Given the description of an element on the screen output the (x, y) to click on. 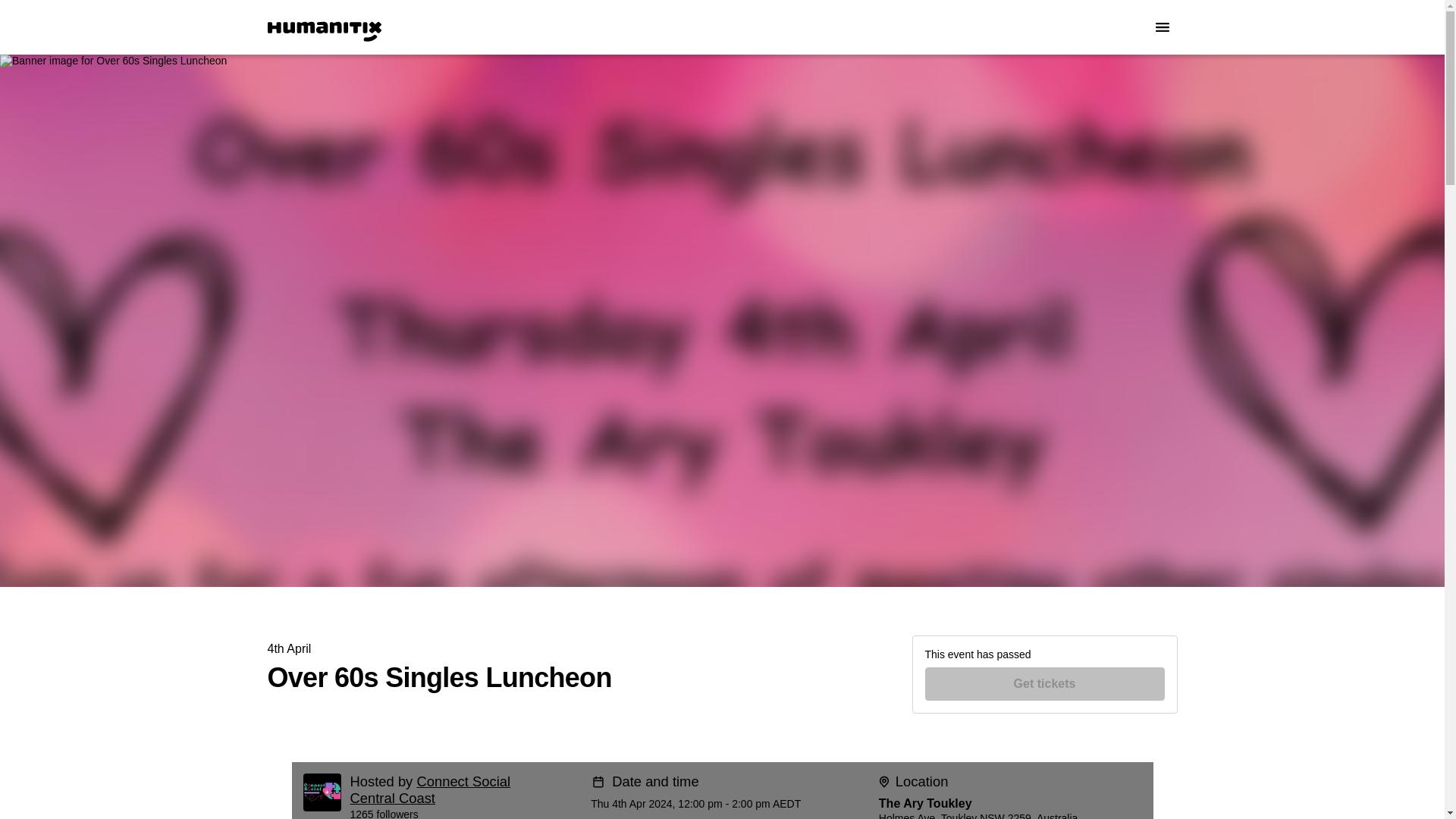
Connect Social Central Coast (430, 789)
Get tickets (1044, 684)
Skip to Content (18, 18)
